Given the description of an element on the screen output the (x, y) to click on. 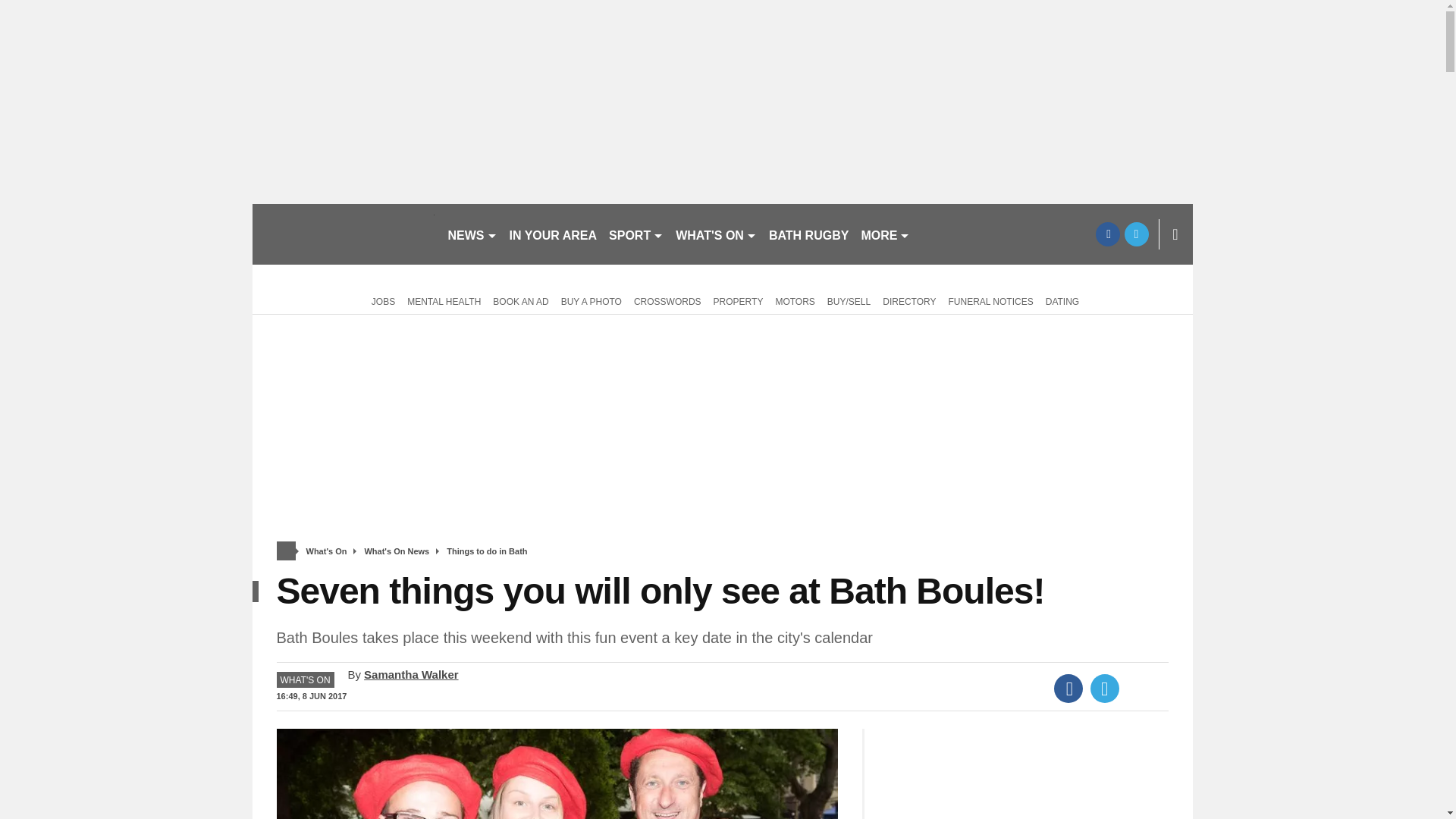
PROPERTY (738, 300)
BUY A PHOTO (590, 300)
JOBS (380, 300)
Twitter (1104, 688)
SPORT (635, 233)
facebook (1106, 233)
MENTAL HEALTH (443, 300)
twitter (1136, 233)
NEWS (471, 233)
MORE (884, 233)
IN YOUR AREA (553, 233)
BATH RUGBY (808, 233)
WHAT'S ON (715, 233)
CROSSWORDS (667, 300)
BOOK AN AD (520, 300)
